Given the description of an element on the screen output the (x, y) to click on. 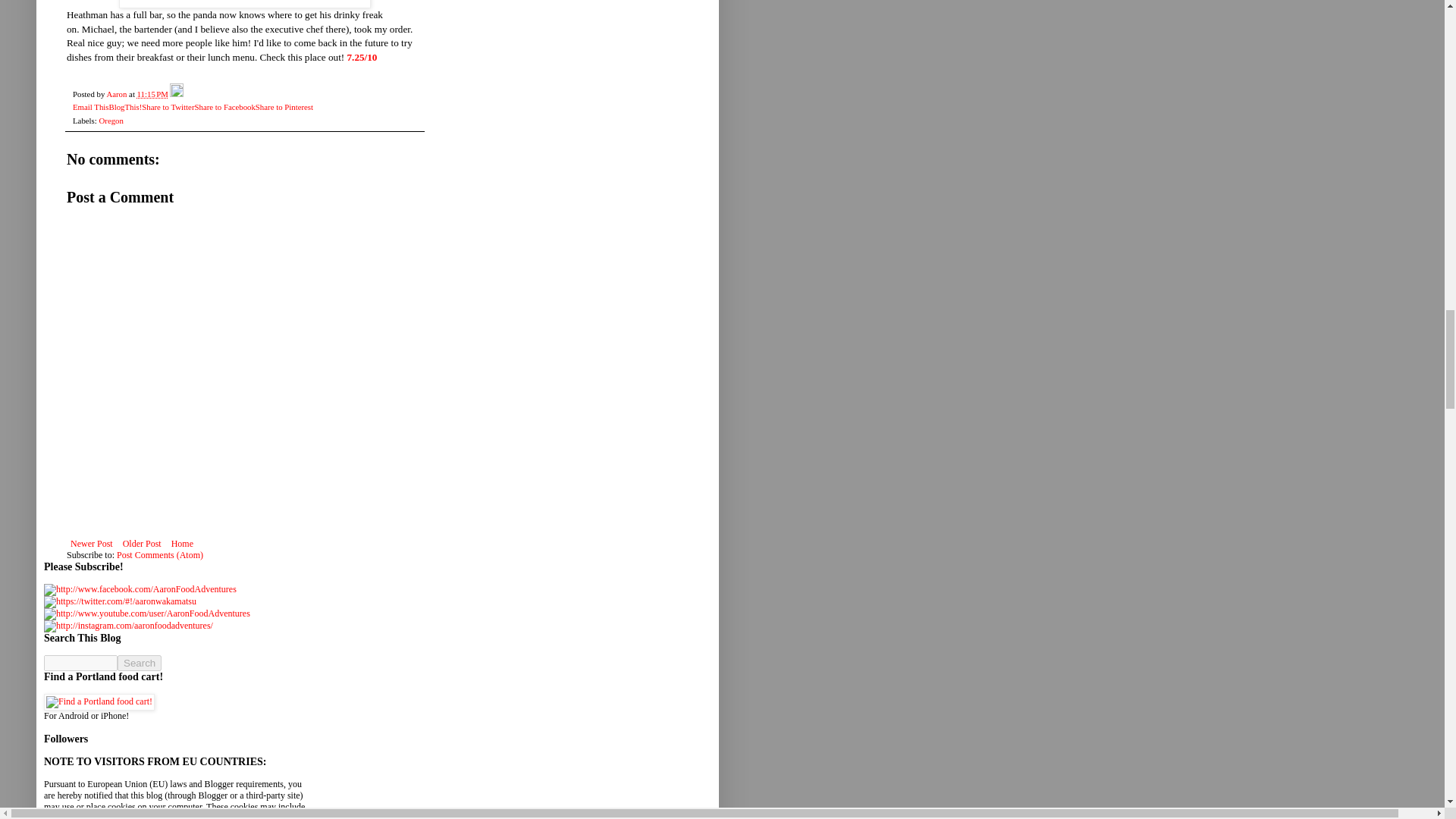
Newer Post (91, 543)
permanent link (152, 93)
Newer Post (91, 543)
Search (139, 662)
author profile (117, 93)
Share to Facebook (223, 106)
Share to Pinterest (284, 106)
Share to Pinterest (284, 106)
Home (181, 543)
Oregon (110, 120)
Email This (89, 106)
Share to Twitter (167, 106)
Aaron (117, 93)
Search (139, 662)
